Given the description of an element on the screen output the (x, y) to click on. 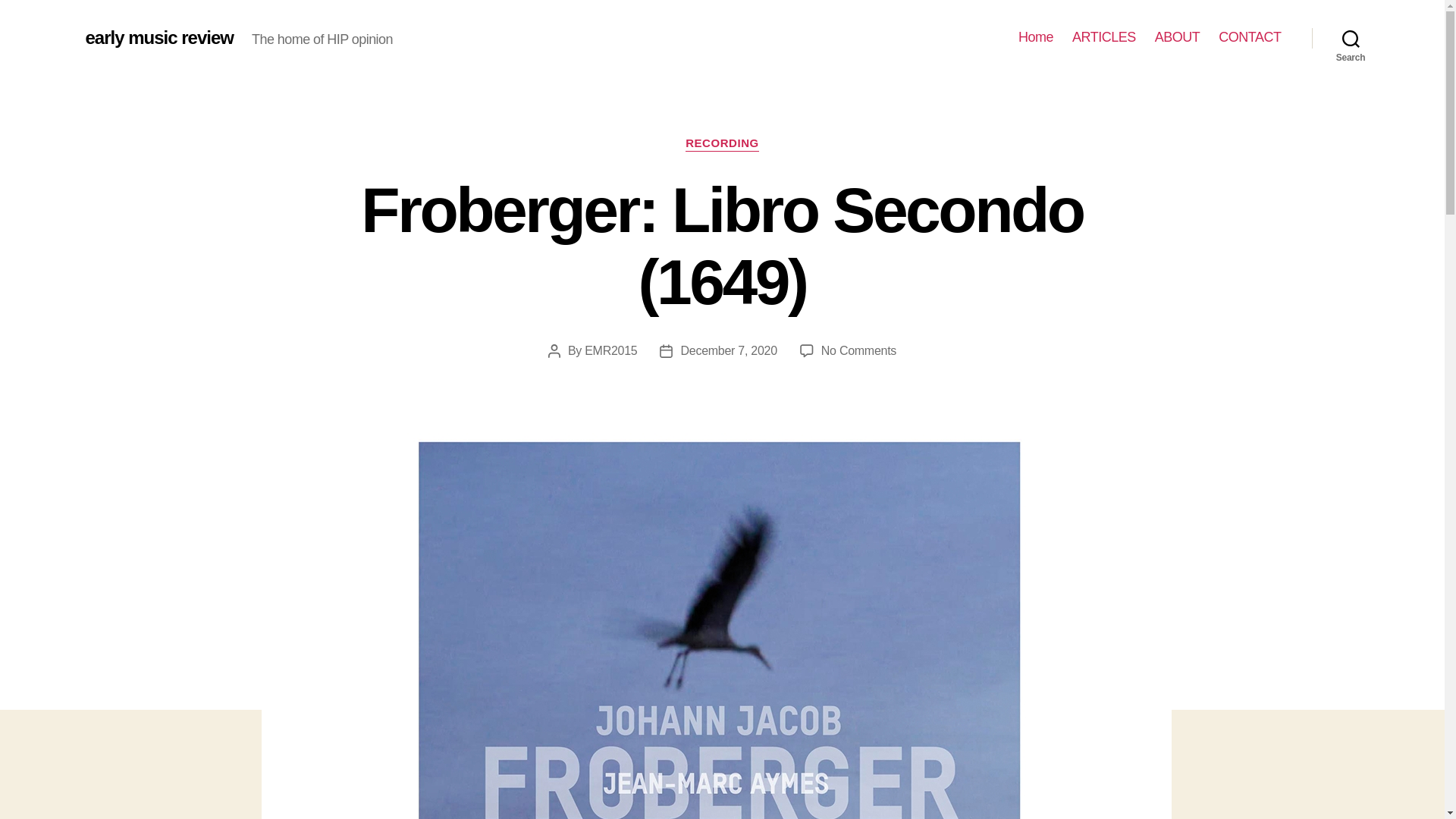
ARTICLES (1103, 37)
ABOUT (1176, 37)
December 7, 2020 (727, 350)
Home (1034, 37)
RECORDING (721, 143)
EMR2015 (611, 350)
Search (1350, 37)
early music review (158, 37)
CONTACT (1249, 37)
